Given the description of an element on the screen output the (x, y) to click on. 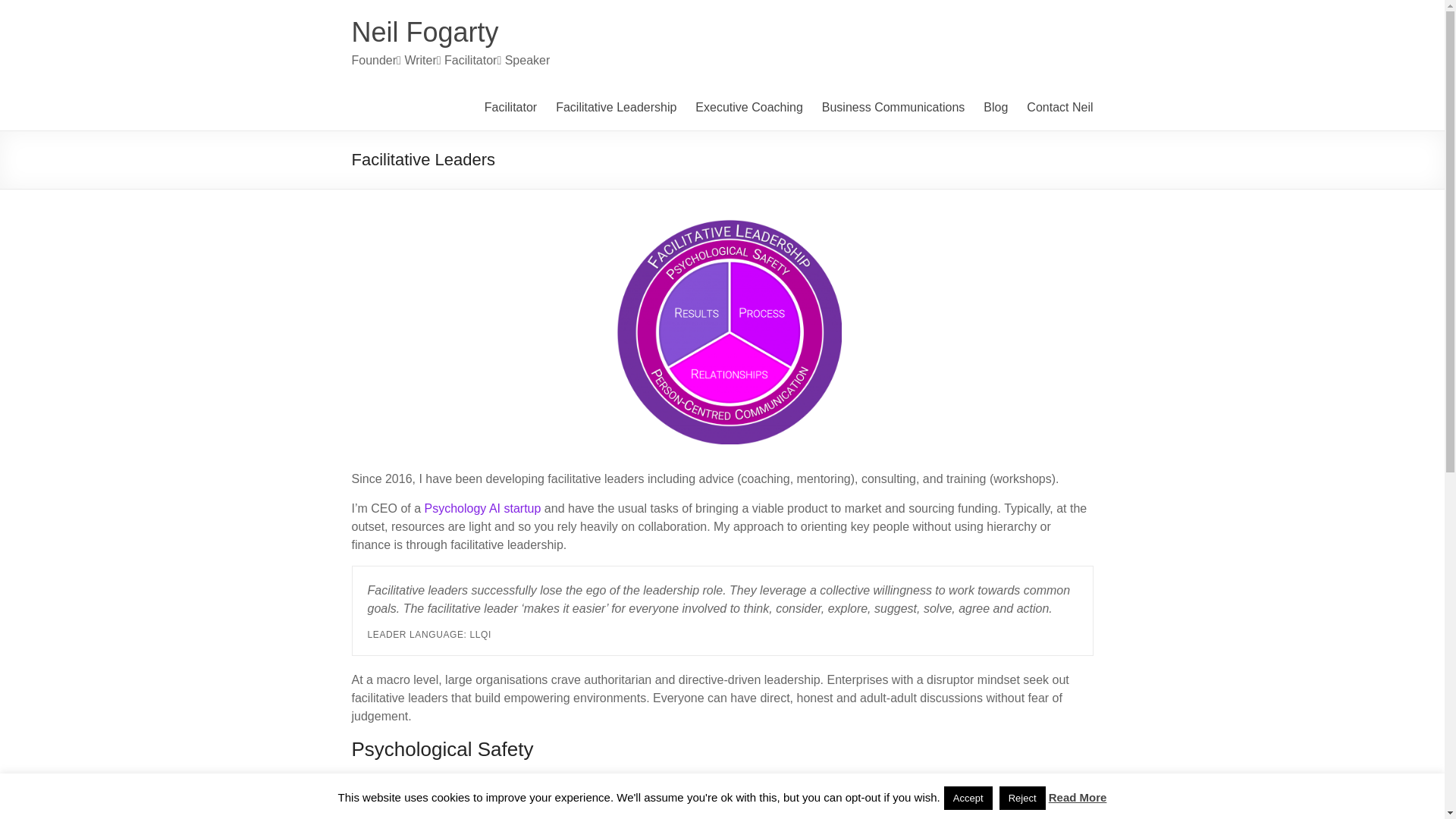
Blog (995, 107)
Neil Fogarty (425, 31)
Psychology AI startup (483, 508)
Neil Fogarty (425, 31)
Facilitative Leadership (616, 107)
Reject (1021, 797)
Executive Coaching (748, 107)
Business Communications (893, 107)
Read More (1077, 797)
Accept (967, 797)
Facilitator (510, 107)
Contact Neil (1059, 107)
